Given the description of an element on the screen output the (x, y) to click on. 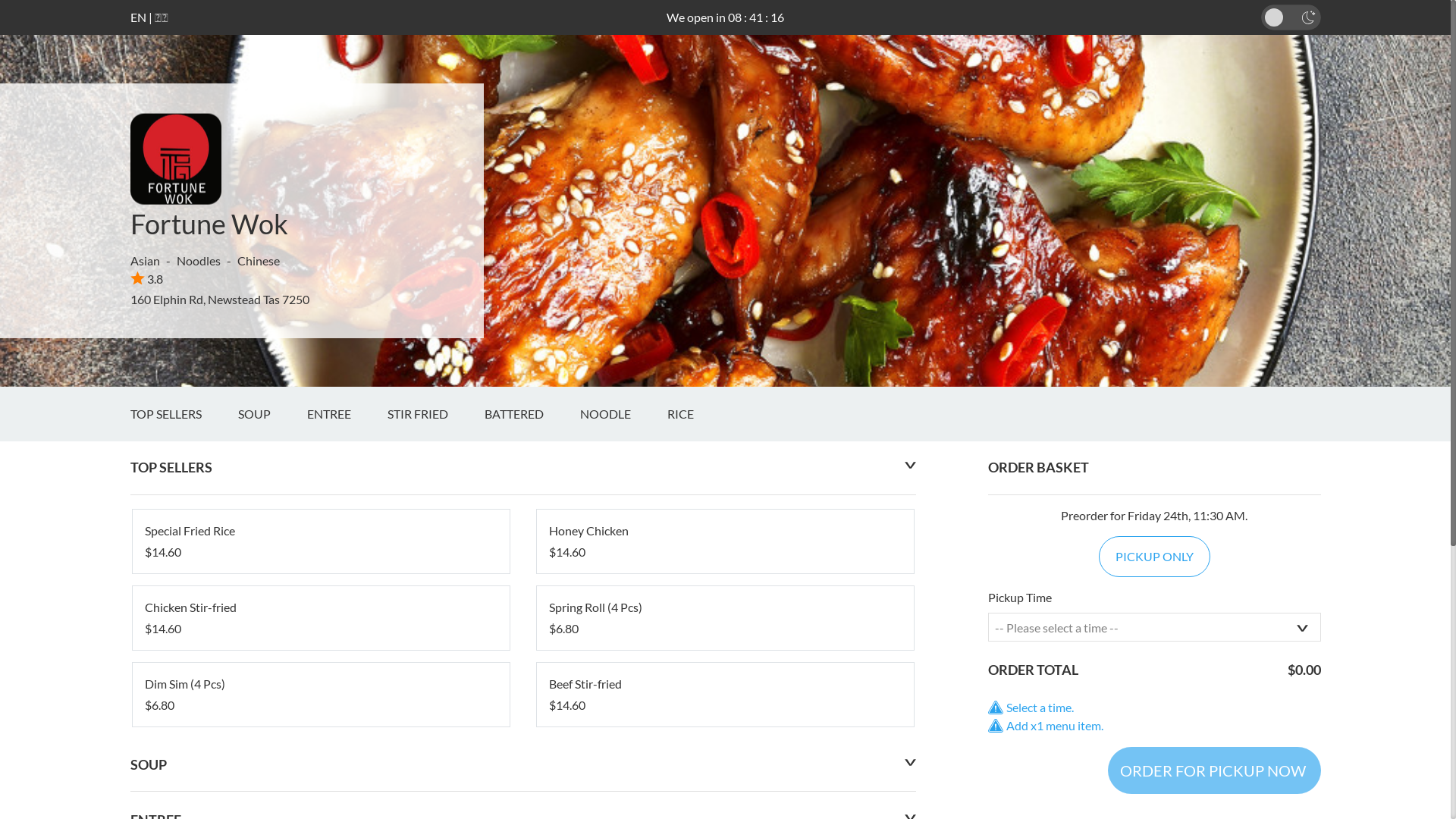
SOUP Element type: text (272, 413)
Dim Sim (4 Pcs)
$6.80 Element type: text (320, 694)
Beef Stir-fried
$14.60 Element type: text (725, 694)
Fortune Wok Element type: text (209, 223)
EN Element type: text (138, 16)
TOP SELLERS Element type: text (184, 413)
PICKUP ONLY Element type: text (1154, 556)
Honey Chicken
$14.60 Element type: text (725, 541)
ENTREE Element type: text (346, 413)
Chicken Stir-fried
$14.60 Element type: text (320, 617)
Dim Sim (4 Pcs)
$6.80 Element type: text (320, 694)
Special Fried Rice
$14.60 Element type: text (320, 541)
ORDER FOR PICKUP NOW  Element type: text (1213, 769)
NOODLE Element type: text (622, 413)
3.8 Element type: text (146, 278)
Chicken Stir-fried
$14.60 Element type: text (320, 617)
RICE Element type: text (698, 413)
Honey Chicken
$14.60 Element type: text (725, 541)
STIR FRIED Element type: text (434, 413)
BATTERED Element type: text (531, 413)
Special Fried Rice
$14.60 Element type: text (320, 541)
Spring Roll (4 Pcs)
$6.80 Element type: text (725, 617)
Spring Roll (4 Pcs)
$6.80 Element type: text (725, 617)
Beef Stir-fried
$14.60 Element type: text (725, 694)
